Given the description of an element on the screen output the (x, y) to click on. 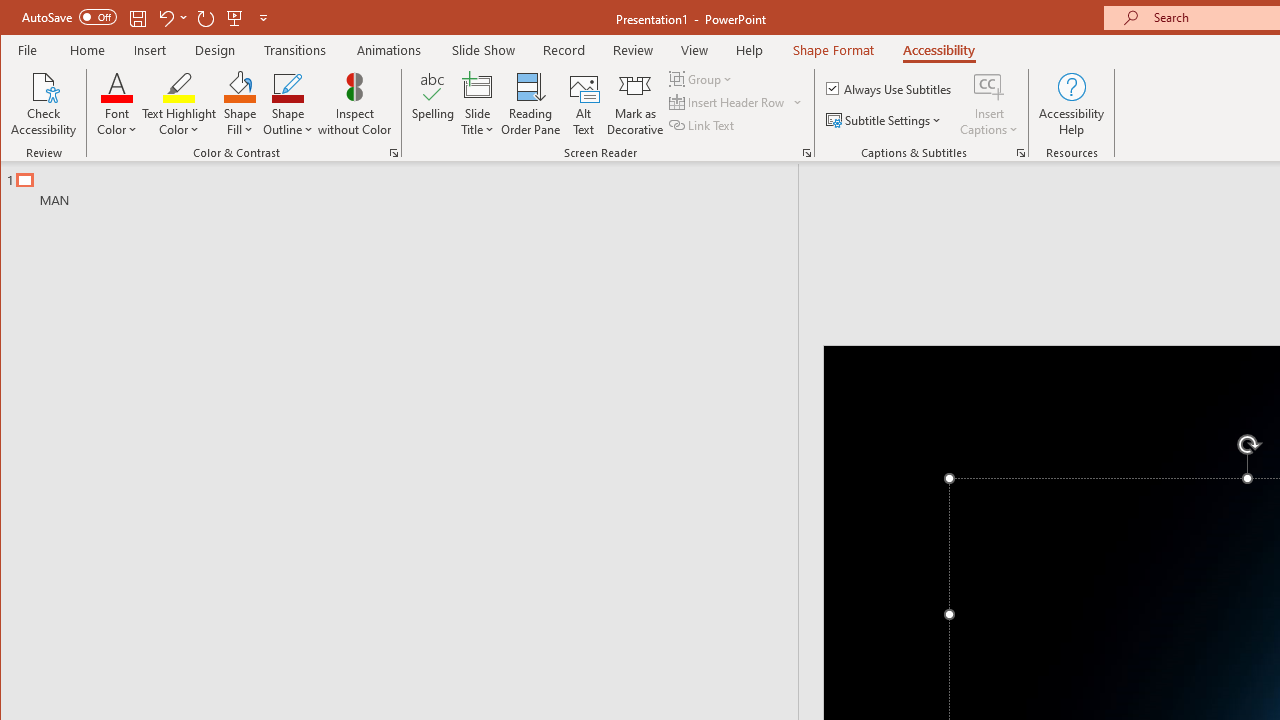
Always Use Subtitles (890, 88)
Text Highlight Color No Color (178, 86)
